Given the description of an element on the screen output the (x, y) to click on. 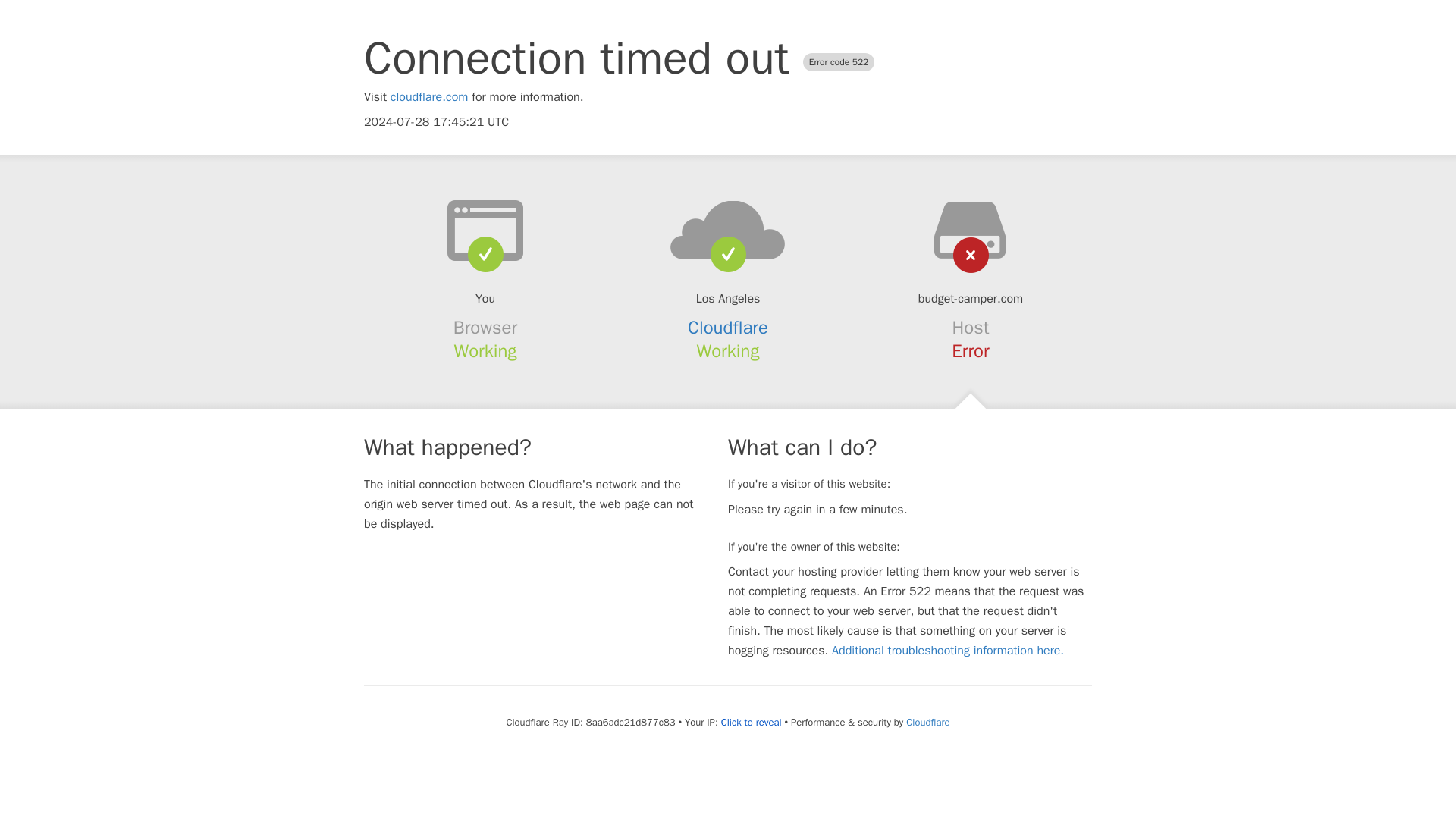
cloudflare.com (429, 96)
Cloudflare (927, 721)
Additional troubleshooting information here. (947, 650)
Cloudflare (727, 327)
Click to reveal (750, 722)
